Given the description of an element on the screen output the (x, y) to click on. 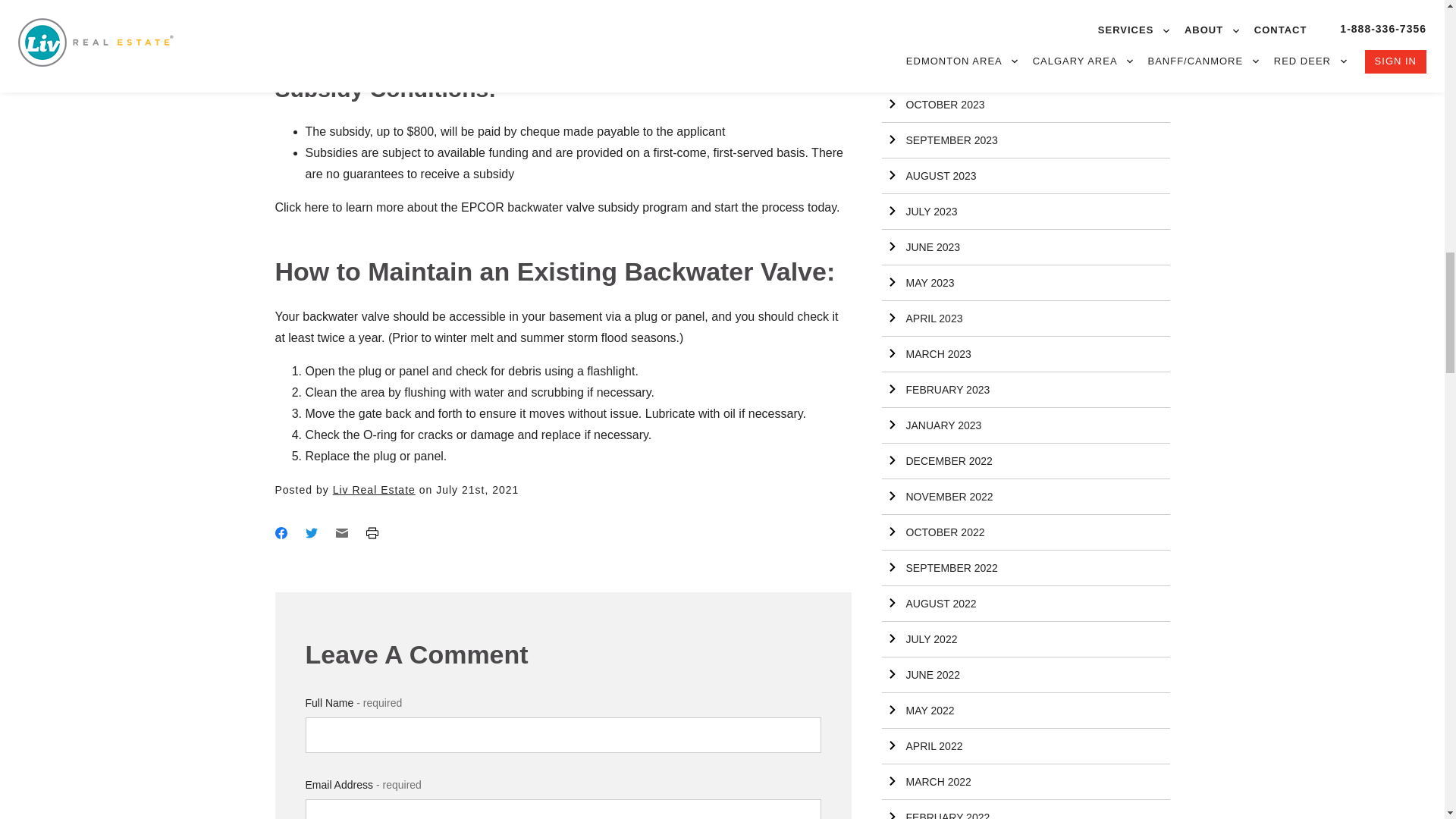
Opens new window with print ready page (371, 532)
Send a link to post via Email (340, 532)
Tweet this post on Twitter (310, 532)
Share this post on Facebook (280, 532)
